Given the description of an element on the screen output the (x, y) to click on. 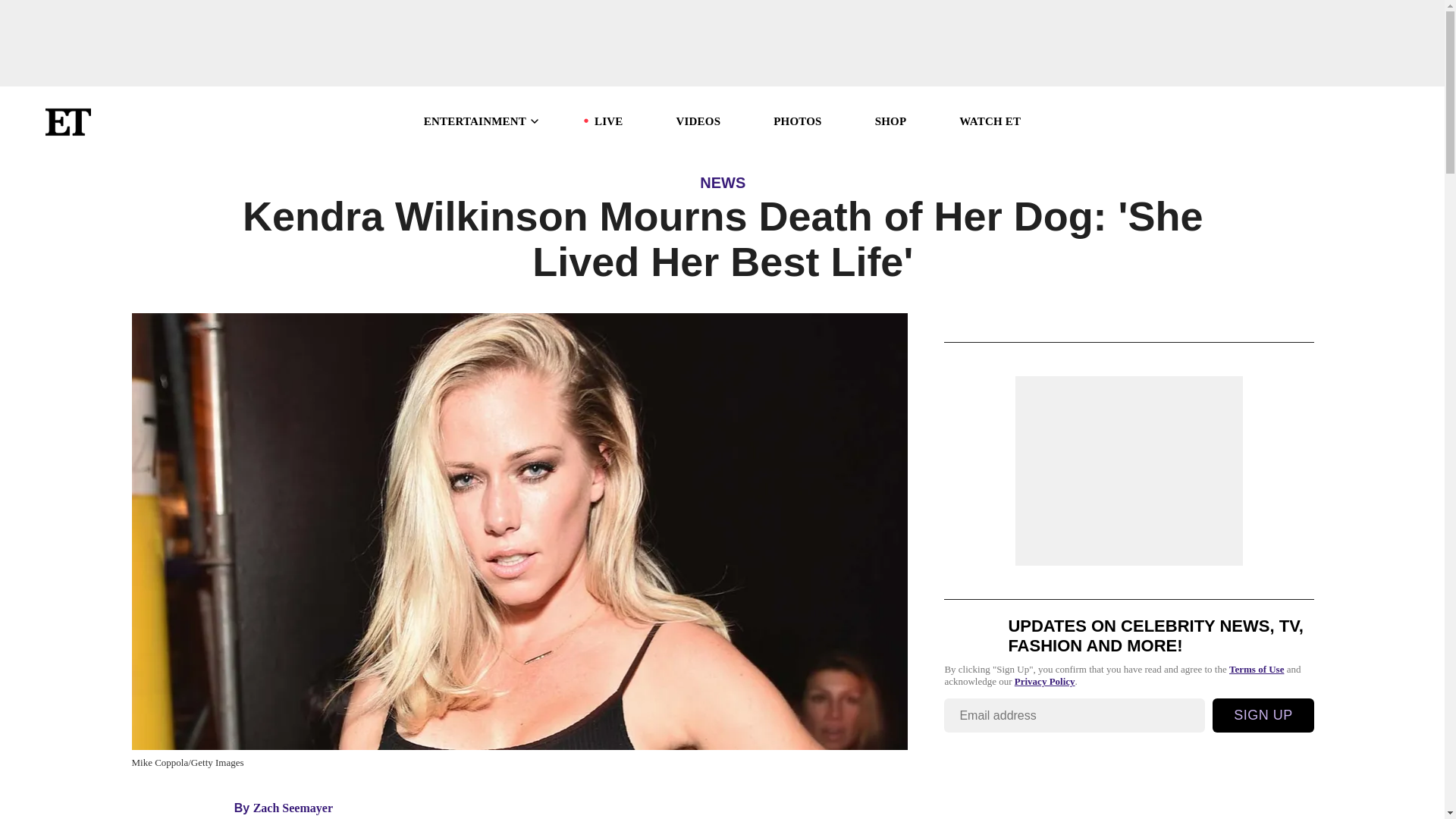
LIVE (608, 120)
Zach Seemayer (293, 807)
WATCH ET (989, 120)
ENTERTAINMENT (482, 120)
VIDEOS (697, 120)
SHOP (891, 120)
NEWS (722, 182)
PHOTOS (797, 120)
Terms of Use (1256, 669)
